Given the description of an element on the screen output the (x, y) to click on. 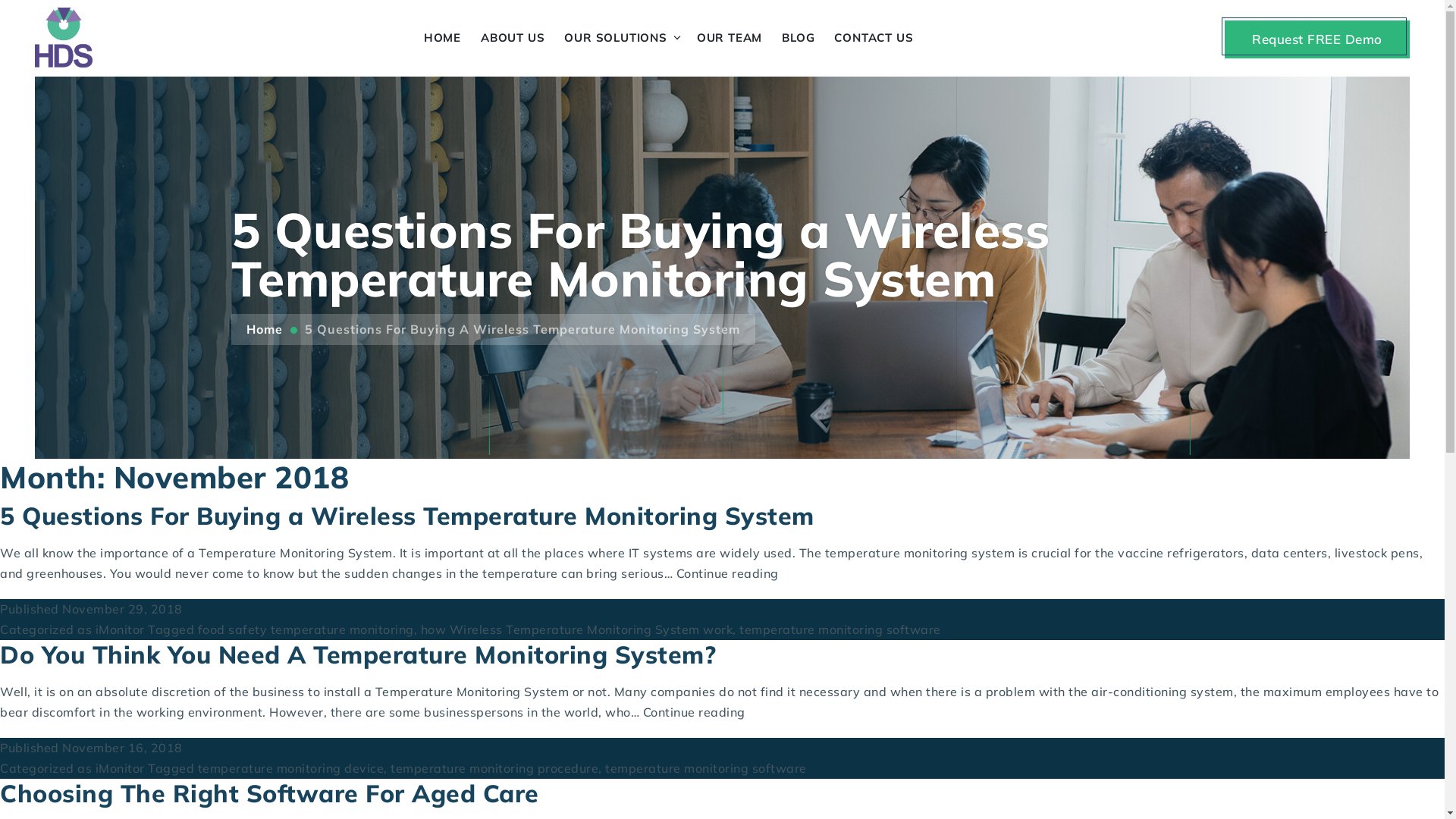
temperature monitoring software Element type: text (705, 767)
ABOUT US Element type: text (512, 37)
CONTACT US Element type: text (873, 37)
temperature monitoring procedure Element type: text (494, 767)
Home Element type: text (263, 328)
OUR TEAM Element type: text (729, 37)
Do You Think You Need A Temperature Monitoring System? Element type: text (357, 654)
OUR SOLUTIONS Element type: text (615, 37)
food safety temperature monitoring Element type: text (305, 629)
temperature monitoring software Element type: text (840, 629)
temperature monitoring device Element type: text (290, 767)
Choosing The Right Software For Aged Care Element type: text (269, 793)
HOME Element type: text (442, 37)
how Wireless Temperature Monitoring System work Element type: text (576, 629)
Request FREE Demo Element type: text (1316, 39)
BLOG Element type: text (797, 37)
iMonitor Element type: text (119, 767)
iMonitor Element type: text (119, 629)
